Given the description of an element on the screen output the (x, y) to click on. 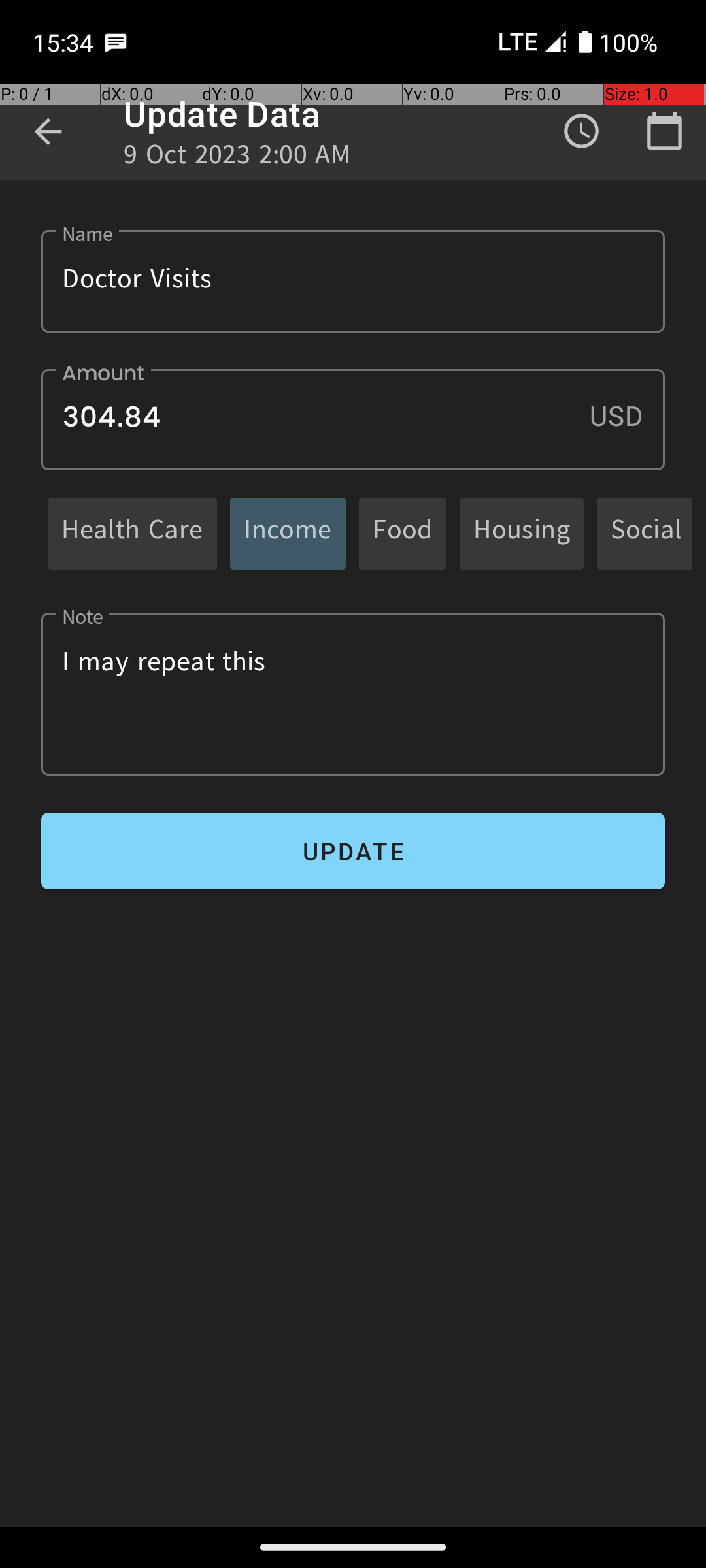
9 Oct 2023 2:00 AM Element type: android.widget.TextView (237, 157)
304.84 Element type: android.widget.EditText (352, 419)
Health Care Element type: android.widget.TextView (132, 533)
